Given the description of an element on the screen output the (x, y) to click on. 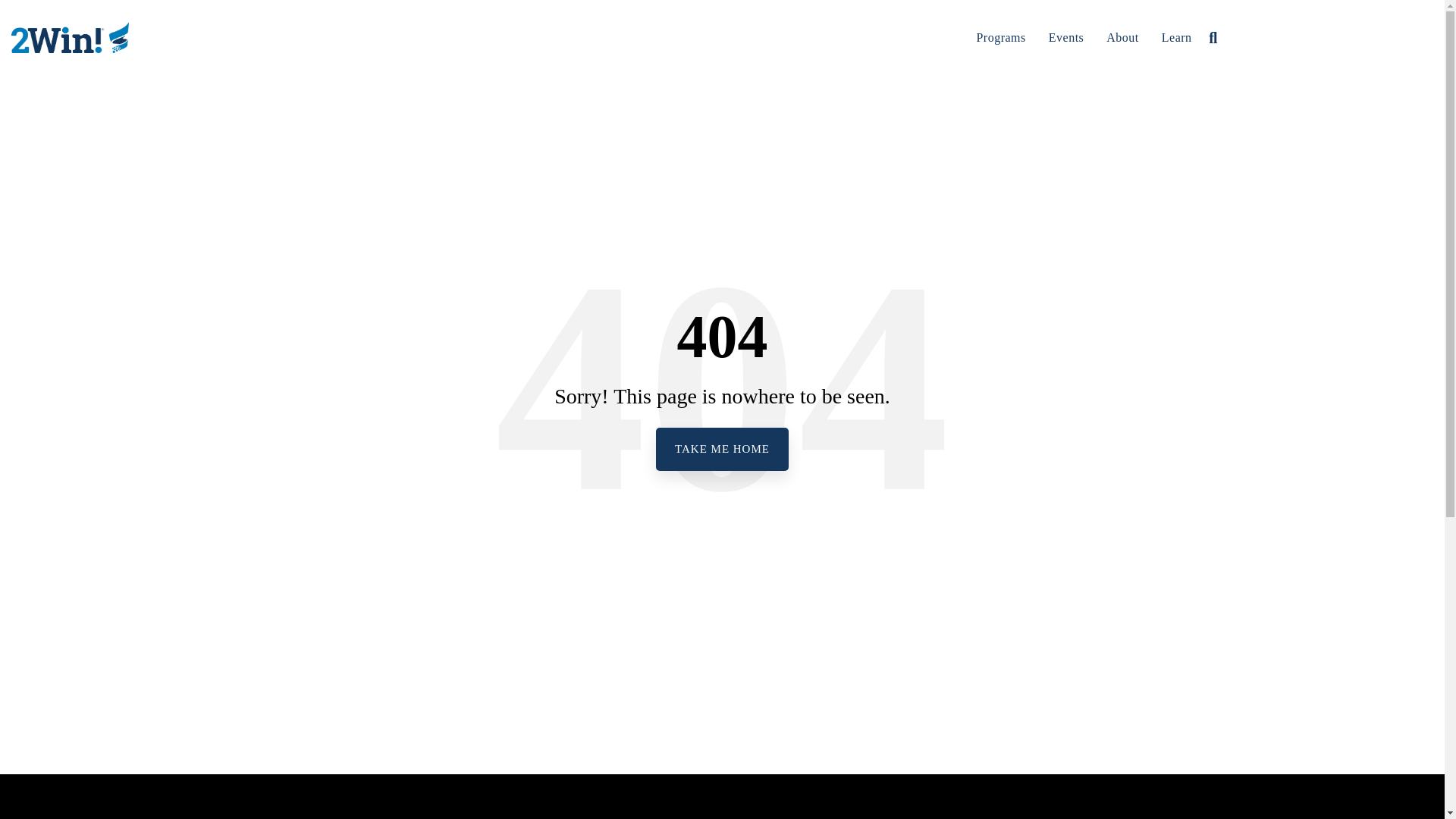
Events (1066, 37)
Programs (1000, 37)
About (1122, 37)
Learn (1176, 37)
